Given the description of an element on the screen output the (x, y) to click on. 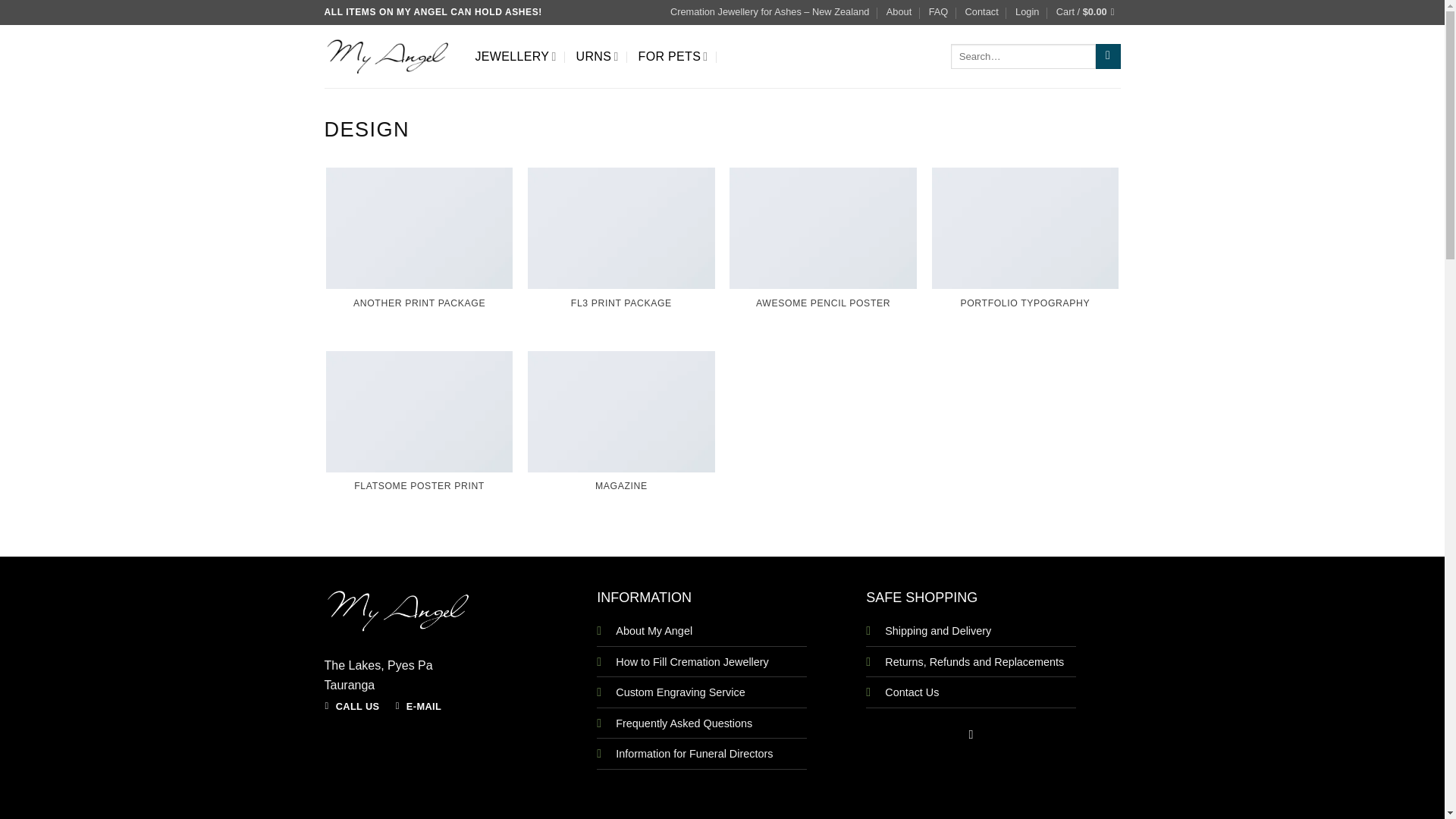
Login (1026, 11)
Contact (981, 11)
About (898, 11)
URNS (597, 56)
JEWELLERY (515, 56)
Cart (1089, 11)
Login (1026, 11)
